Given the description of an element on the screen output the (x, y) to click on. 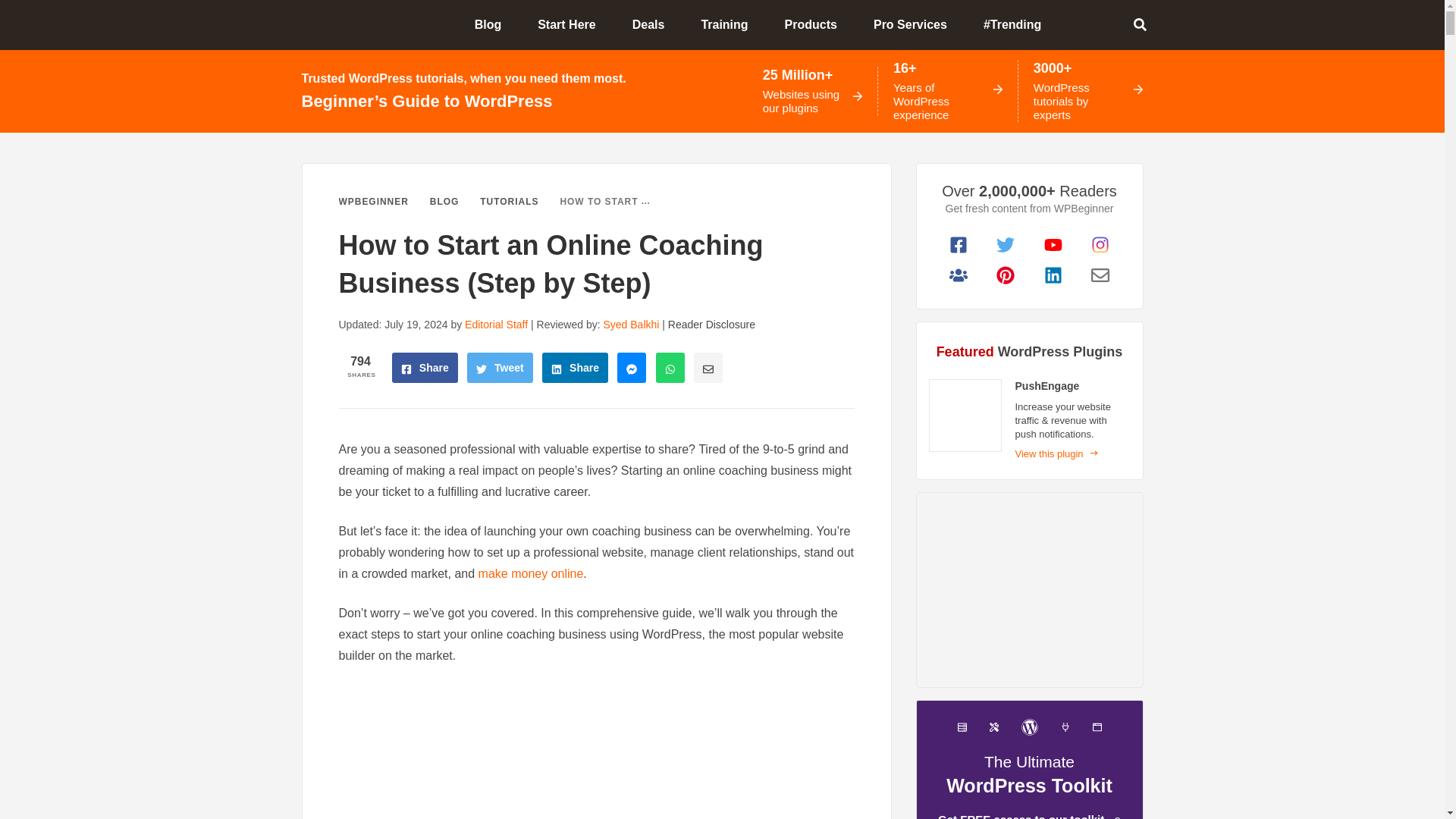
Deals (654, 24)
WPBeginner - Beginners Guide for WordPress (353, 24)
Blog (494, 24)
WPBeginner - WordPress Tutorials for Beginners (353, 24)
Start Here (572, 24)
